Given the description of an element on the screen output the (x, y) to click on. 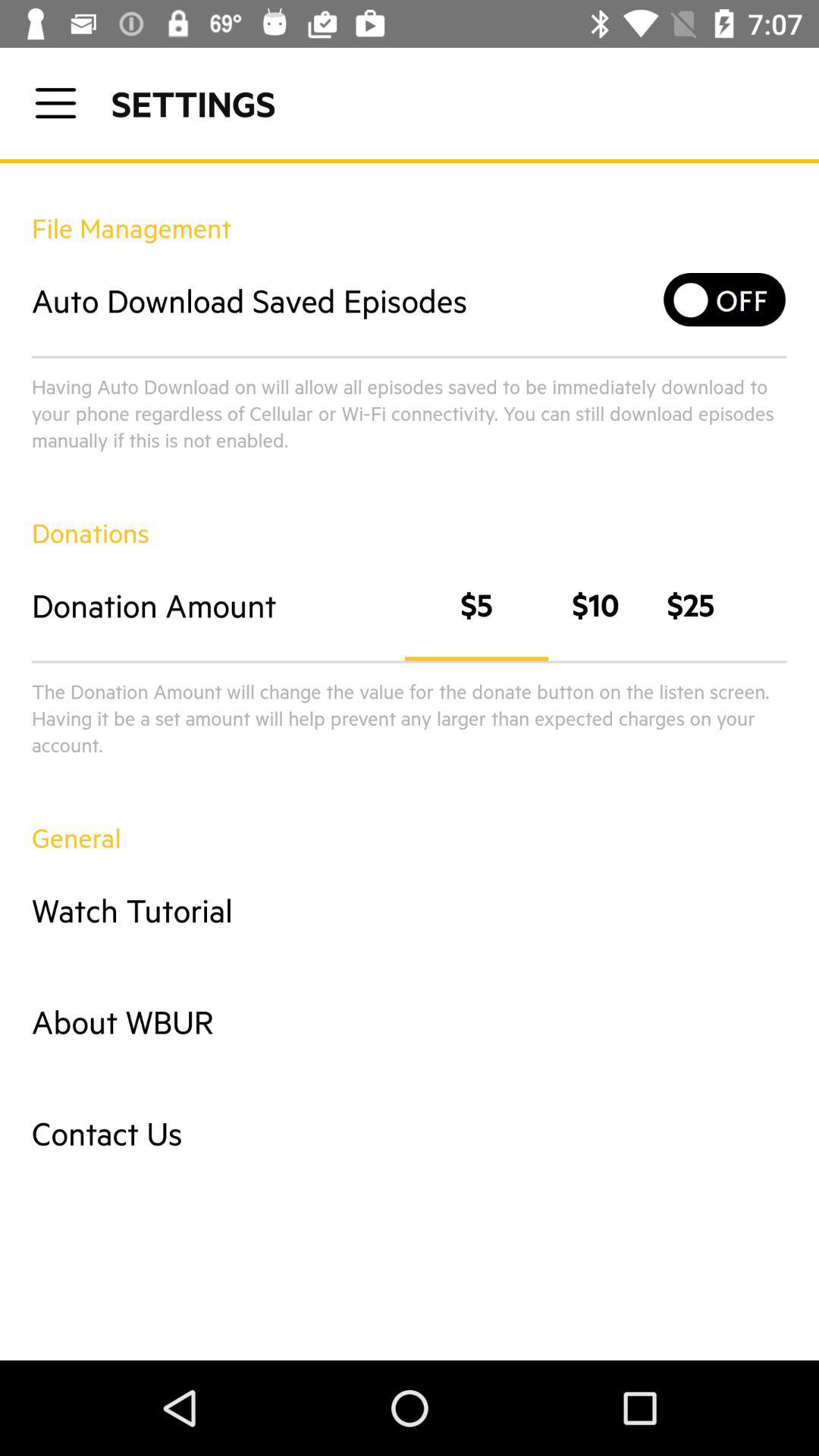
auto download option (725, 300)
